Given the description of an element on the screen output the (x, y) to click on. 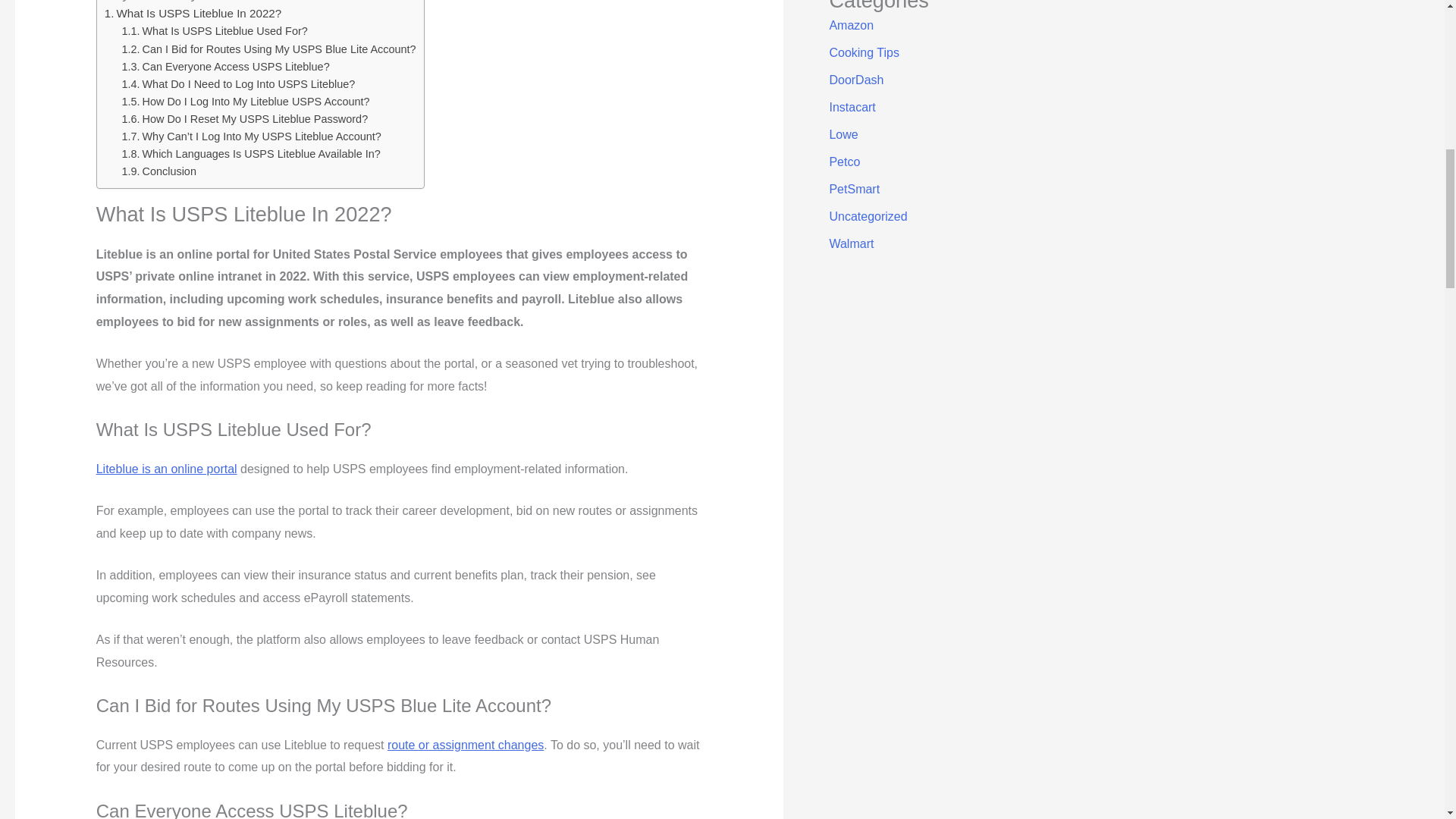
What Is USPS Liteblue In 2022? (193, 12)
Can Everyone Access USPS Liteblue? (226, 66)
What Is USPS Liteblue Used For? (214, 30)
How Do I Log Into My Liteblue USPS Account? (245, 101)
What Is USPS Liteblue Used For? (214, 30)
Can I Bid for Routes Using My USPS Blue Lite Account? (269, 49)
Liteblue is an online portal (166, 468)
How Do I Reset My USPS Liteblue Password? (245, 119)
What Do I Need to Log Into USPS Liteblue? (238, 83)
Can I Bid for Routes Using My USPS Blue Lite Account? (269, 49)
How Do I Log Into My Liteblue USPS Account? (245, 101)
What Do I Need to Log Into USPS Liteblue? (238, 83)
Conclusion (159, 171)
Can Everyone Access USPS Liteblue? (226, 66)
How Do I Reset My USPS Liteblue Password? (245, 119)
